Given the description of an element on the screen output the (x, y) to click on. 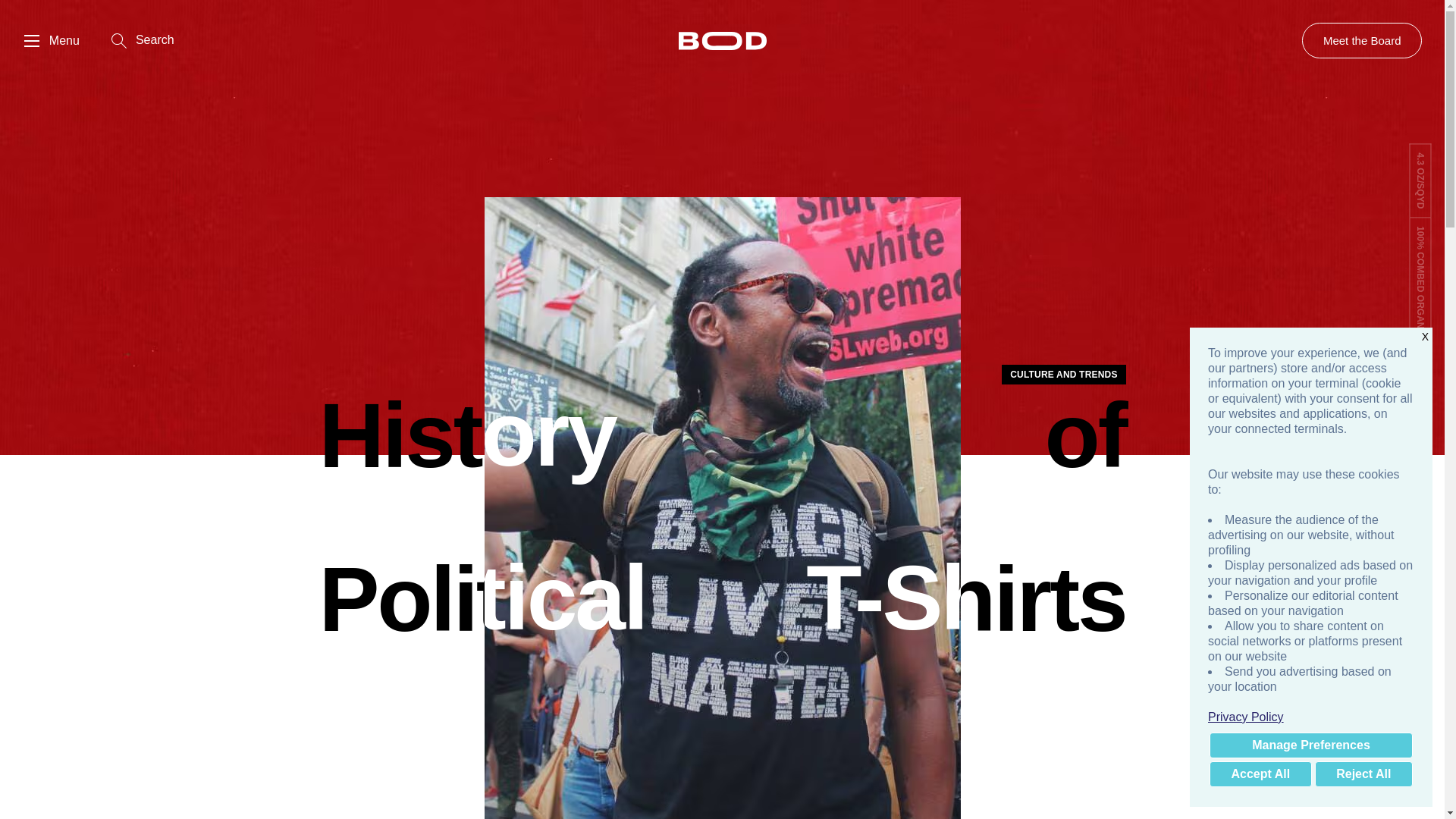
Reject All (1363, 774)
Search (143, 40)
Privacy Policy (1310, 717)
Meet the Board (1361, 40)
Accept All (1260, 774)
Menu (51, 40)
Manage Preferences (1310, 745)
